Given the description of an element on the screen output the (x, y) to click on. 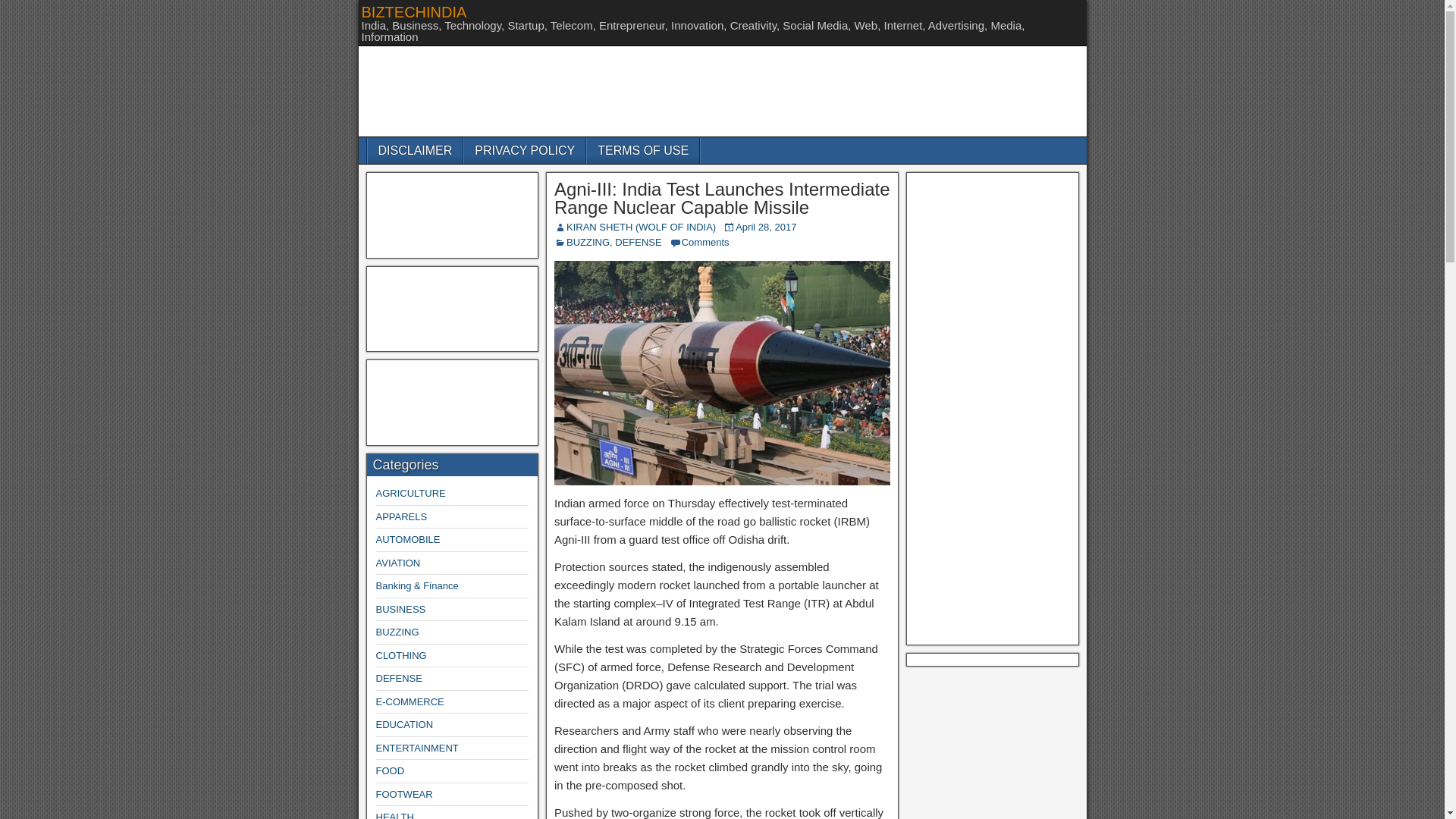
DISCLAIMER (414, 150)
DEFENSE (637, 242)
BUZZING (588, 242)
TERMS OF USE (642, 150)
Comments (705, 242)
BIZTECHINDIA (413, 12)
April 28, 2017 (765, 226)
PRIVACY POLICY (524, 150)
